Given the description of an element on the screen output the (x, y) to click on. 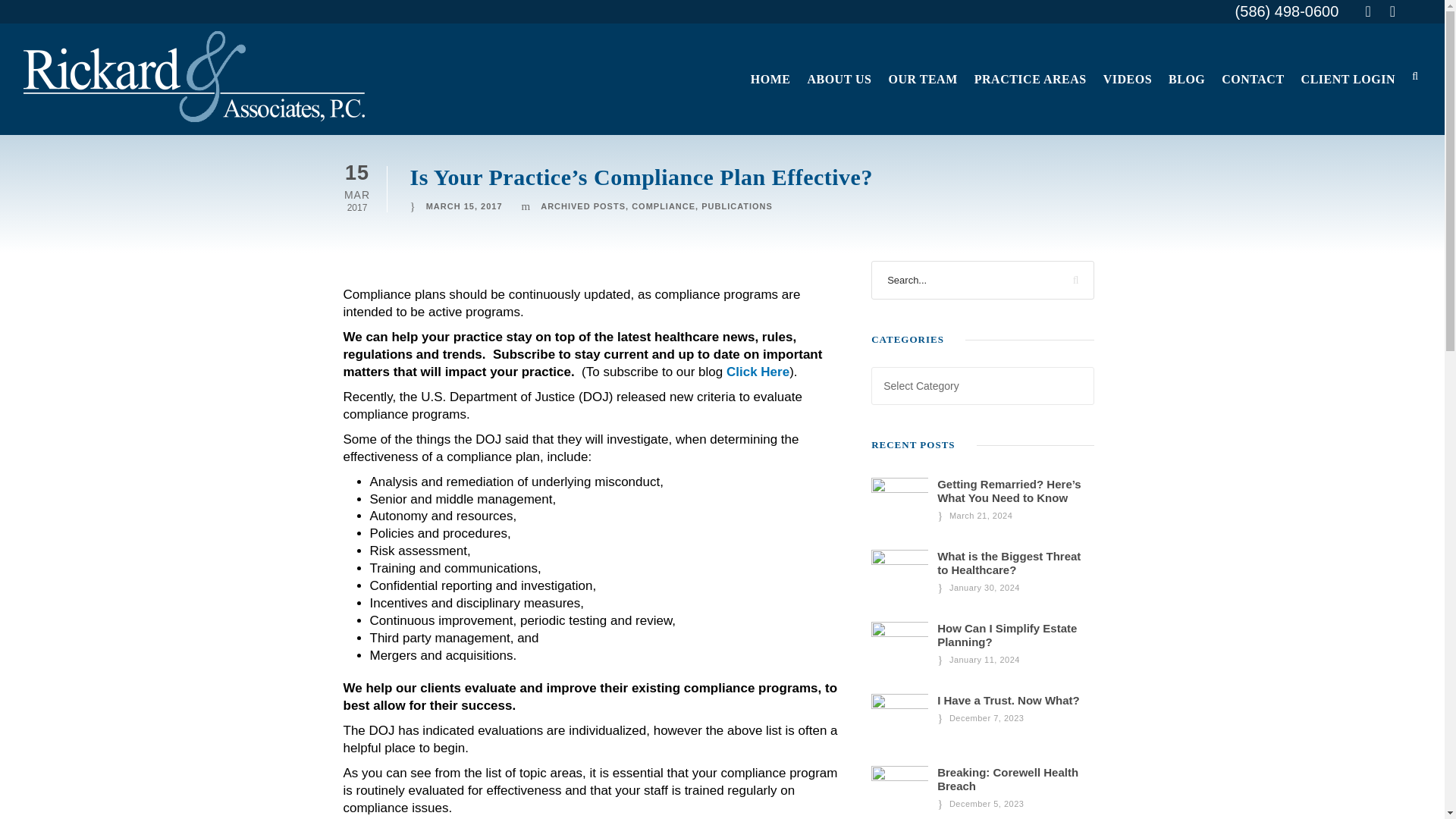
Click here to Subscribe (757, 371)
bride-groom-pic (899, 505)
CONTACT (1252, 101)
CLIENT LOGIN (1347, 101)
ABOUT US (838, 101)
PRACTICE AREAS (1030, 101)
OUR TEAM (922, 101)
lar-logo2 (194, 76)
